Given the description of an element on the screen output the (x, y) to click on. 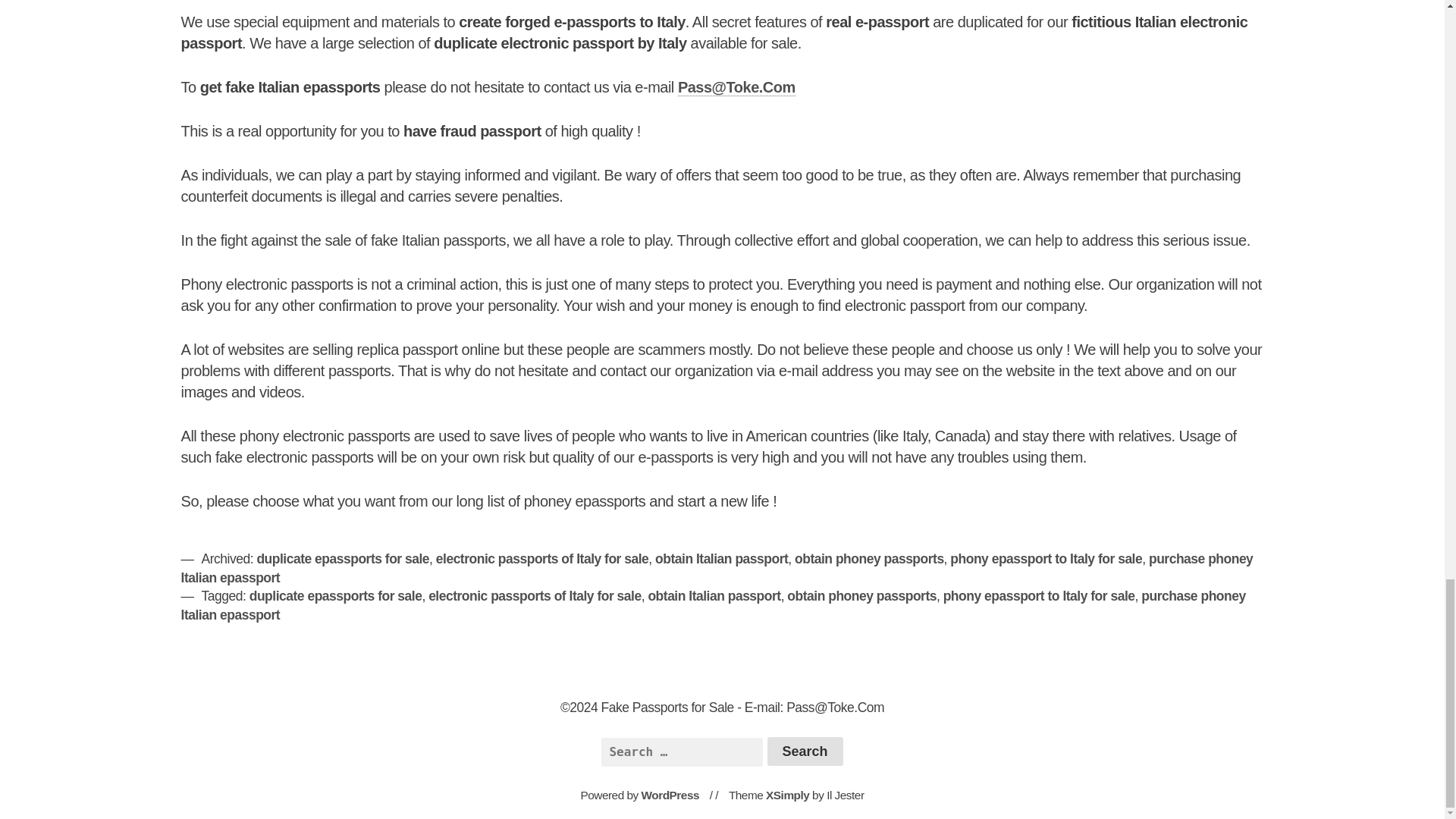
duplicate epassports for sale (342, 558)
Search (805, 751)
phony epassport to Italy for sale (1039, 595)
XSimply (787, 794)
obtain Italian passport (721, 558)
electronic passports of Italy for sale (535, 595)
obtain phoney passports (868, 558)
purchase phoney Italian epassport (716, 568)
obtain Italian passport (713, 595)
Search (805, 751)
WordPress (670, 794)
Search (805, 751)
purchase phoney Italian epassport (713, 605)
electronic passports of Italy for sale (542, 558)
duplicate epassports for sale (335, 595)
